Given the description of an element on the screen output the (x, y) to click on. 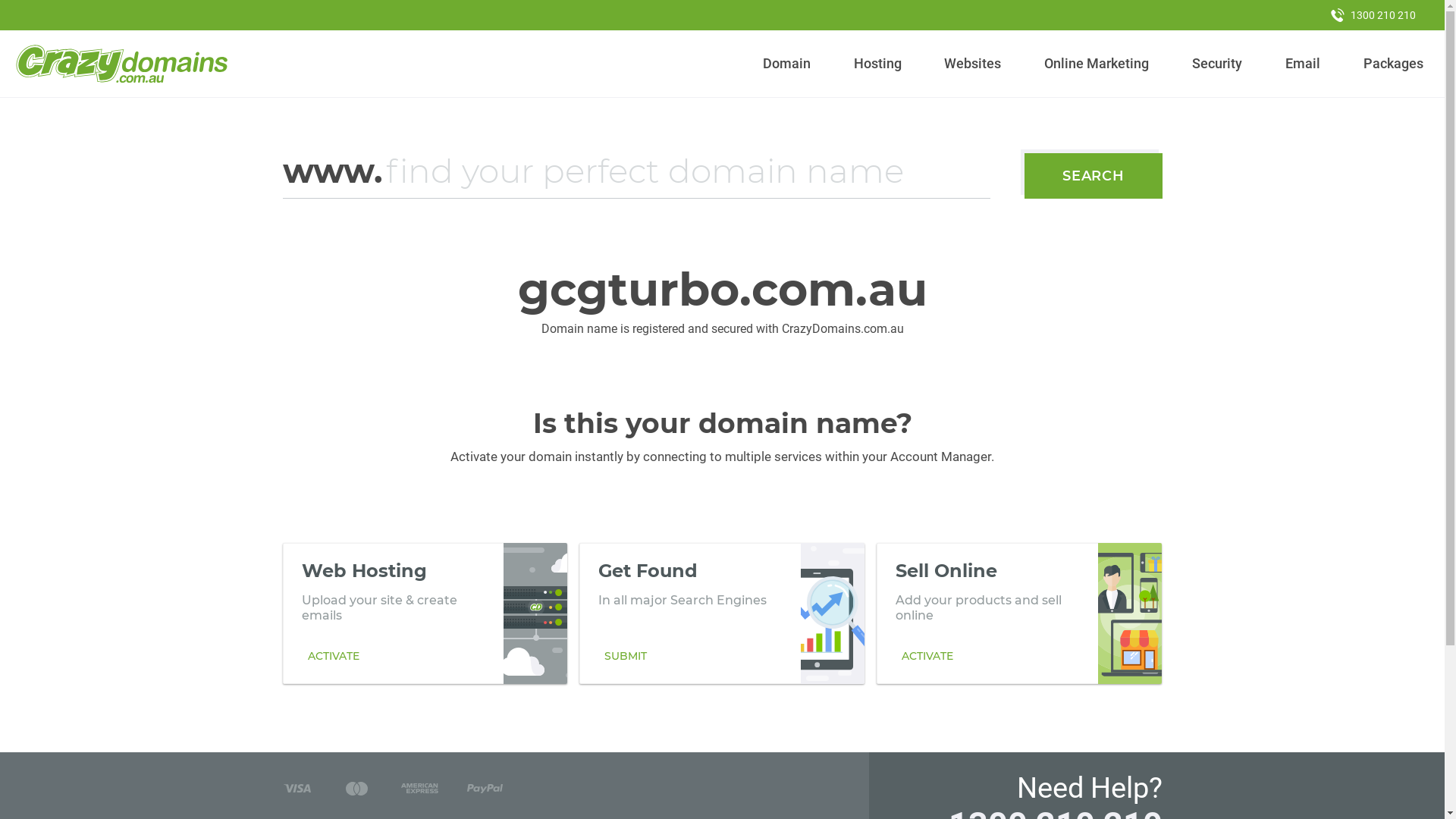
Email Element type: text (1302, 63)
Hosting Element type: text (877, 63)
Online Marketing Element type: text (1096, 63)
Get Found
In all major Search Engines
SUBMIT Element type: text (721, 613)
Domain Element type: text (786, 63)
Security Element type: text (1217, 63)
1300 210 210 Element type: text (1373, 15)
Websites Element type: text (972, 63)
Web Hosting
Upload your site & create emails
ACTIVATE Element type: text (424, 613)
Sell Online
Add your products and sell online
ACTIVATE Element type: text (1018, 613)
SEARCH Element type: text (1092, 175)
Packages Element type: text (1392, 63)
